Given the description of an element on the screen output the (x, y) to click on. 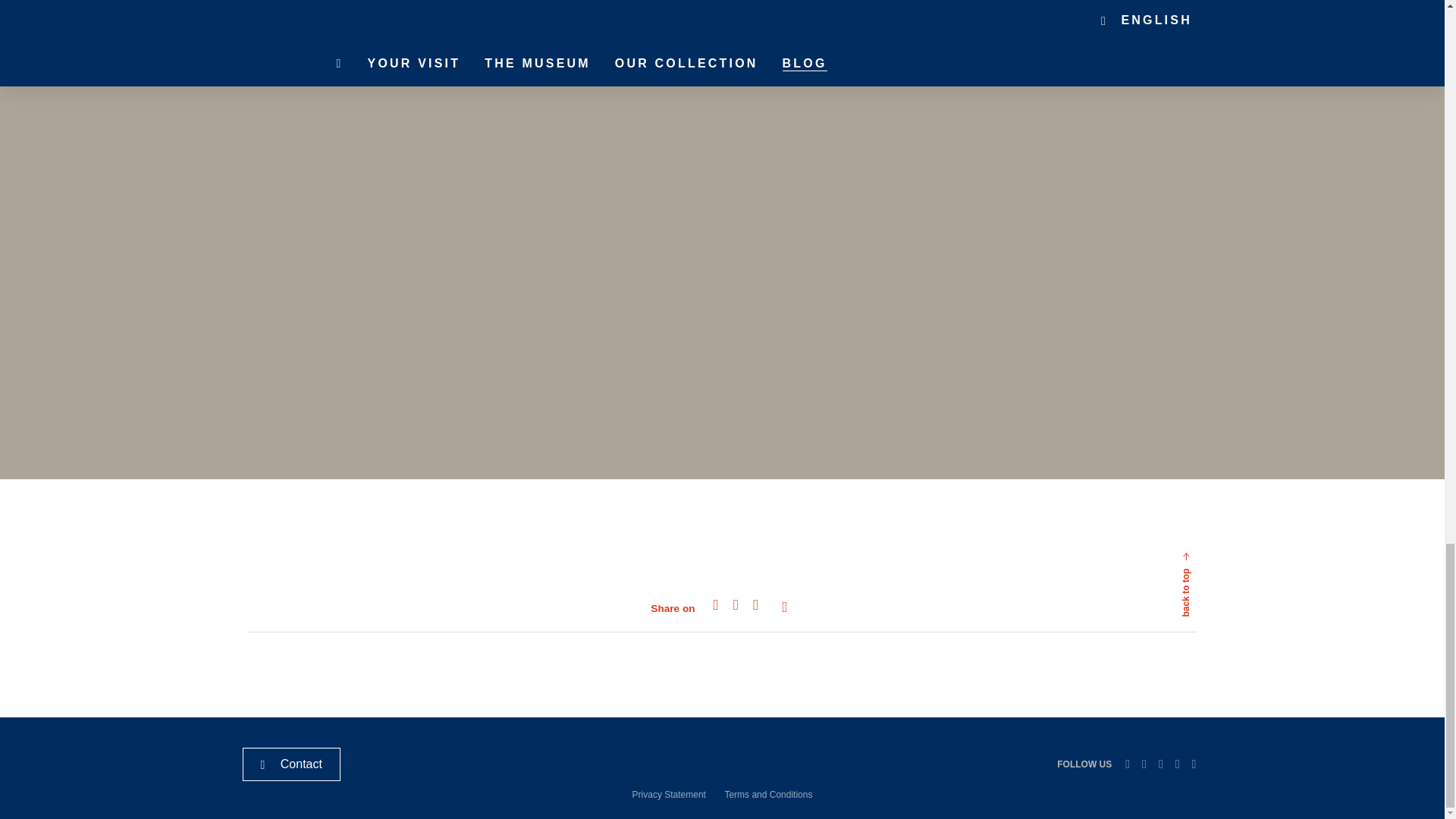
back to top (1150, 607)
Twitter (1144, 764)
back to top (1222, 535)
LinkedIn (1127, 764)
back to top (1222, 535)
Privacy Statement (668, 794)
Facebook (1161, 764)
Contact (291, 764)
Instagram (1177, 764)
Terms and Conditions (767, 794)
YouTube (1194, 764)
